Given the description of an element on the screen output the (x, y) to click on. 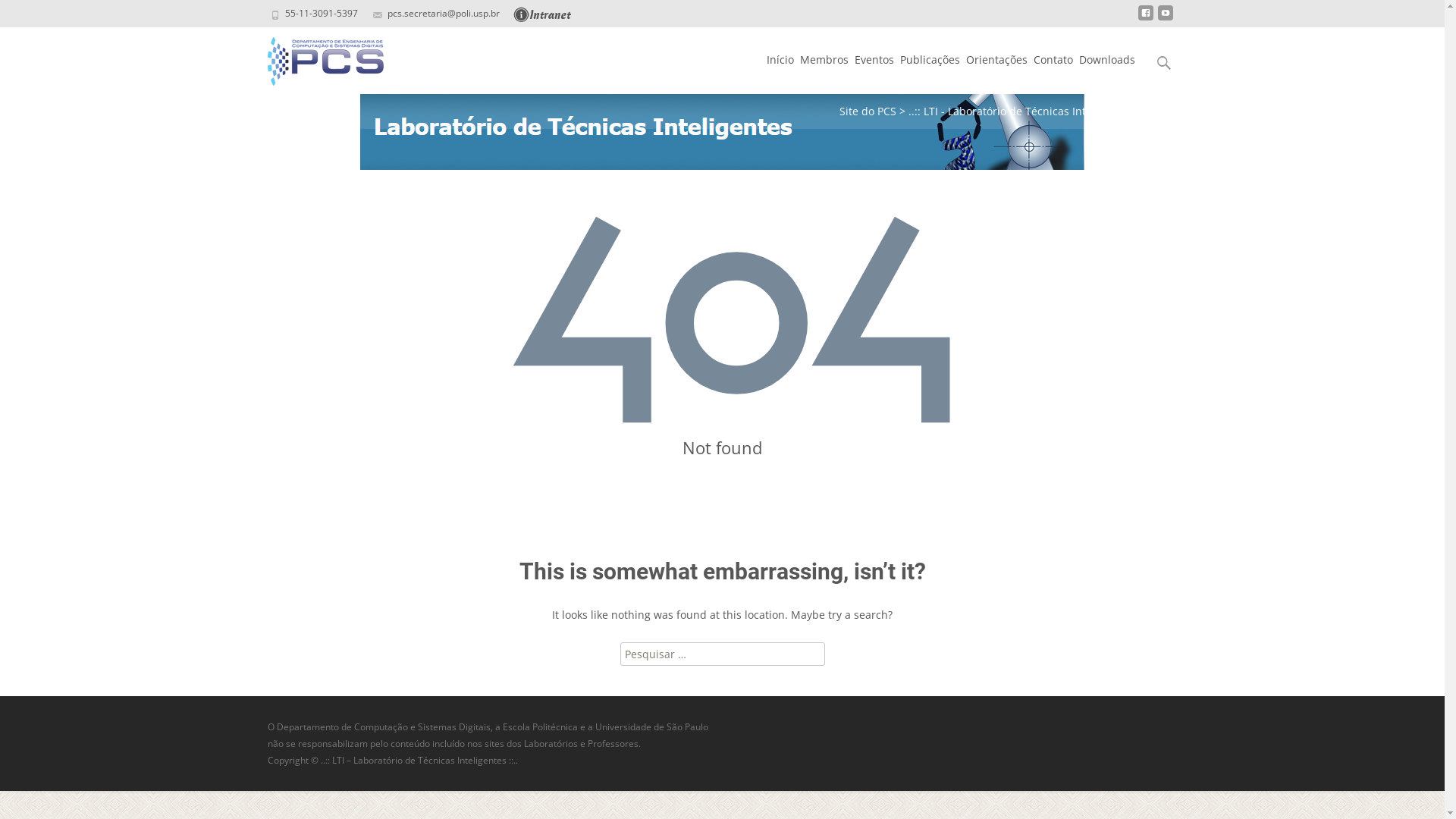
Pesquisar Element type: text (43, 15)
Skip to content Element type: text (764, 26)
facebook Element type: hover (1144, 18)
Contato Element type: text (1052, 59)
Membros Element type: text (823, 59)
youtube Element type: hover (1164, 18)
Eventos Element type: text (873, 59)
Site do PCS Element type: text (866, 110)
Downloads Element type: text (1105, 59)
Pesquisar Element type: text (18, 15)
